Given the description of an element on the screen output the (x, y) to click on. 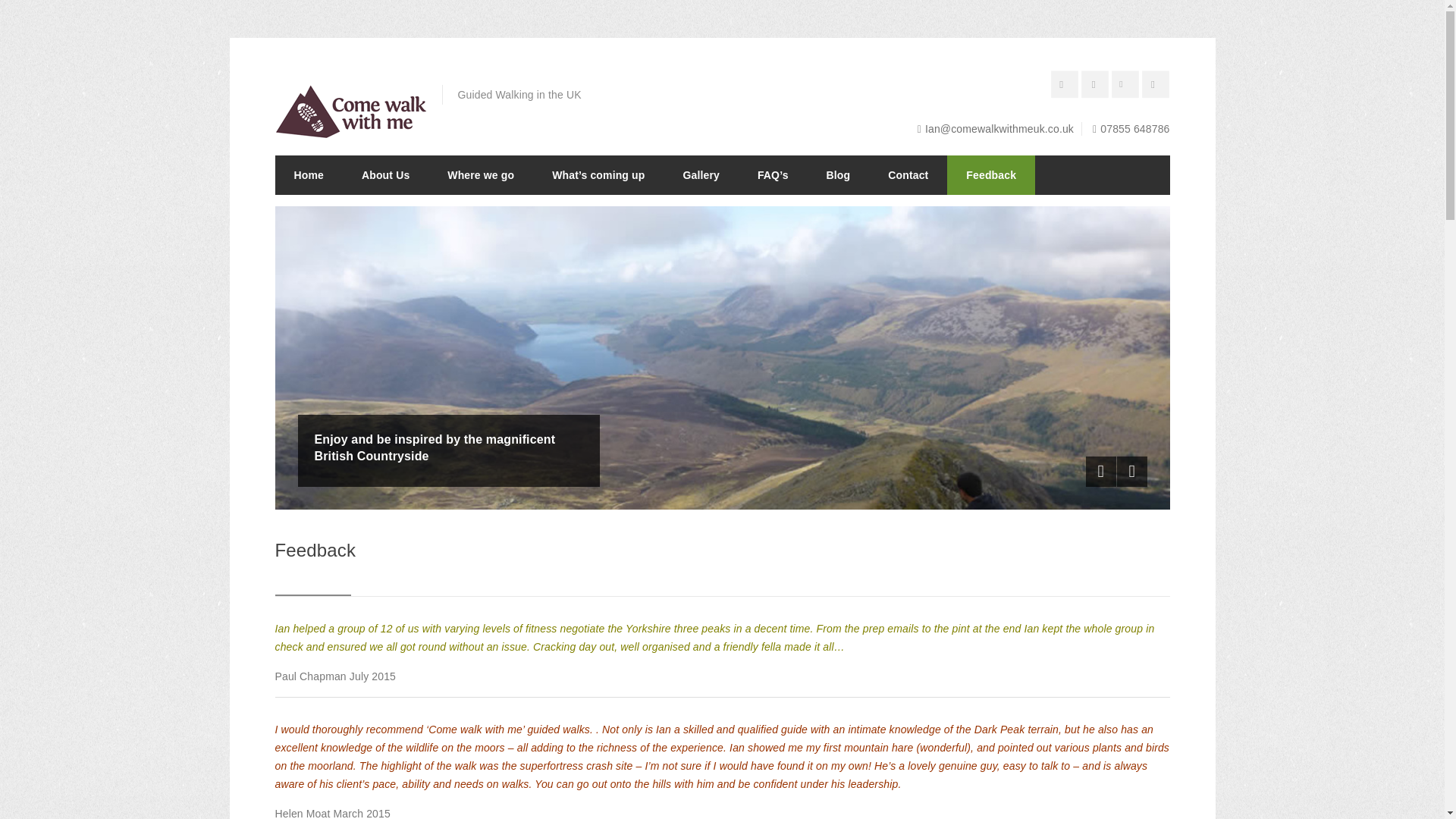
Facebook (1097, 86)
Pinterest (1067, 86)
Gallery (700, 174)
Contact (908, 174)
About Us (385, 174)
Blog (838, 174)
Where we go (480, 174)
Home (308, 174)
Twitter (1127, 86)
Feedback (991, 174)
